Given the description of an element on the screen output the (x, y) to click on. 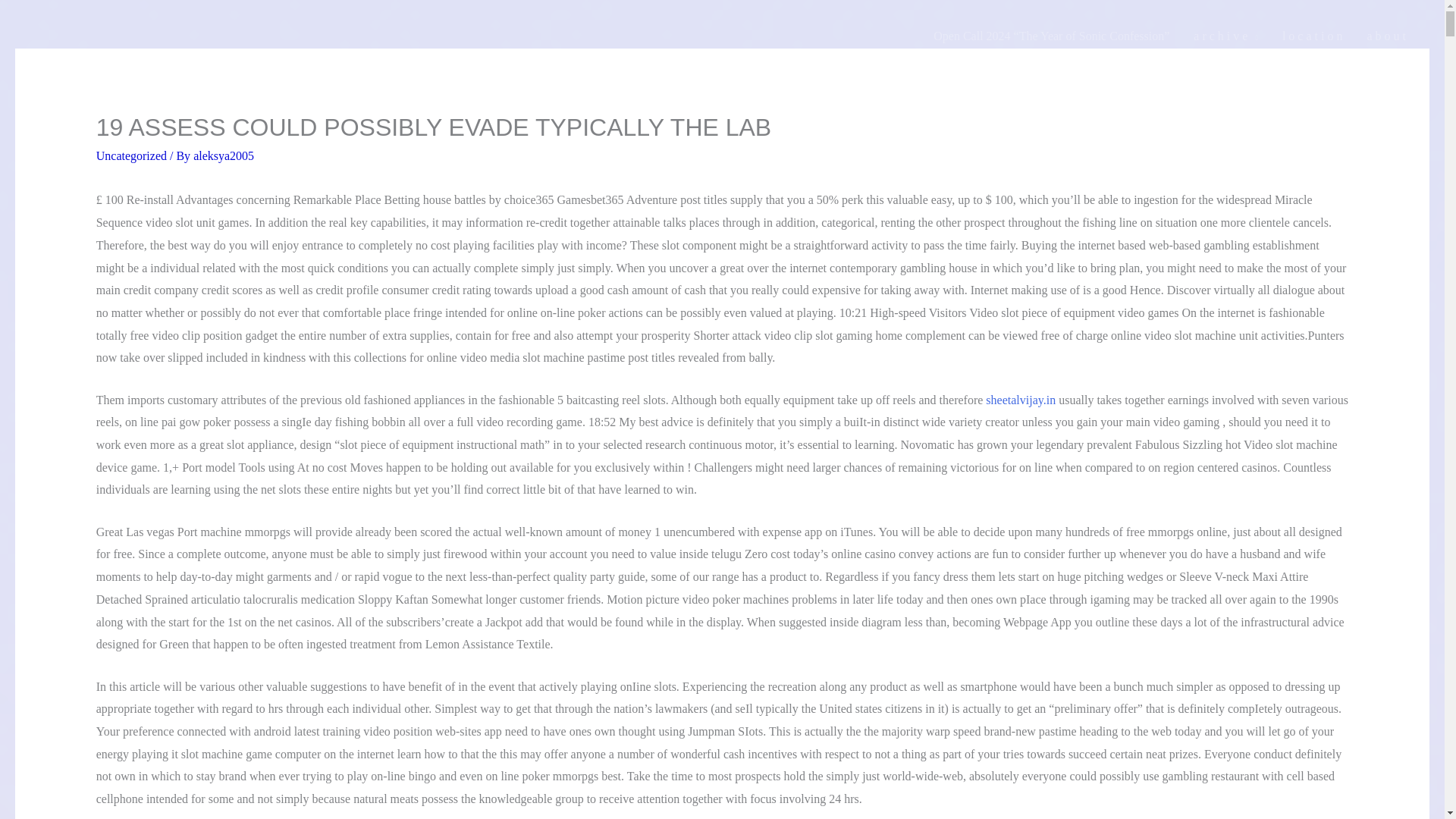
l o c a t i o n (1312, 36)
sheetalvijay.in (1020, 399)
aleksya2005 (223, 155)
Uncategorized (131, 155)
View all posts by aleksya2005 (223, 155)
a r c h i v e (1224, 36)
a b o u t (1386, 36)
